Given the description of an element on the screen output the (x, y) to click on. 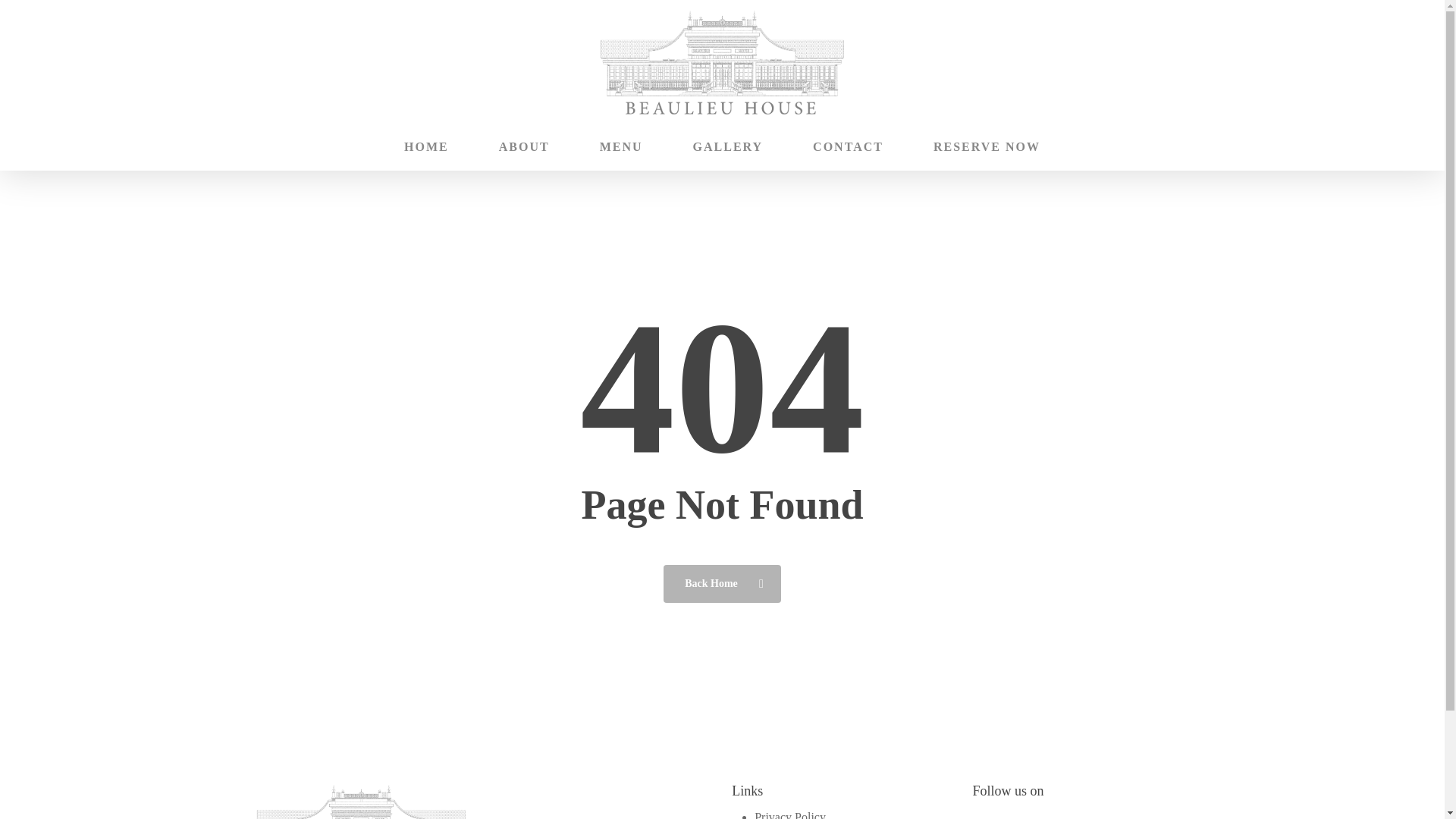
Back Home (721, 582)
MENU (621, 146)
CONTACT (847, 146)
Privacy Policy (789, 814)
ABOUT (524, 146)
GALLERY (727, 146)
HOME (426, 146)
RESERVE NOW (987, 146)
